Given the description of an element on the screen output the (x, y) to click on. 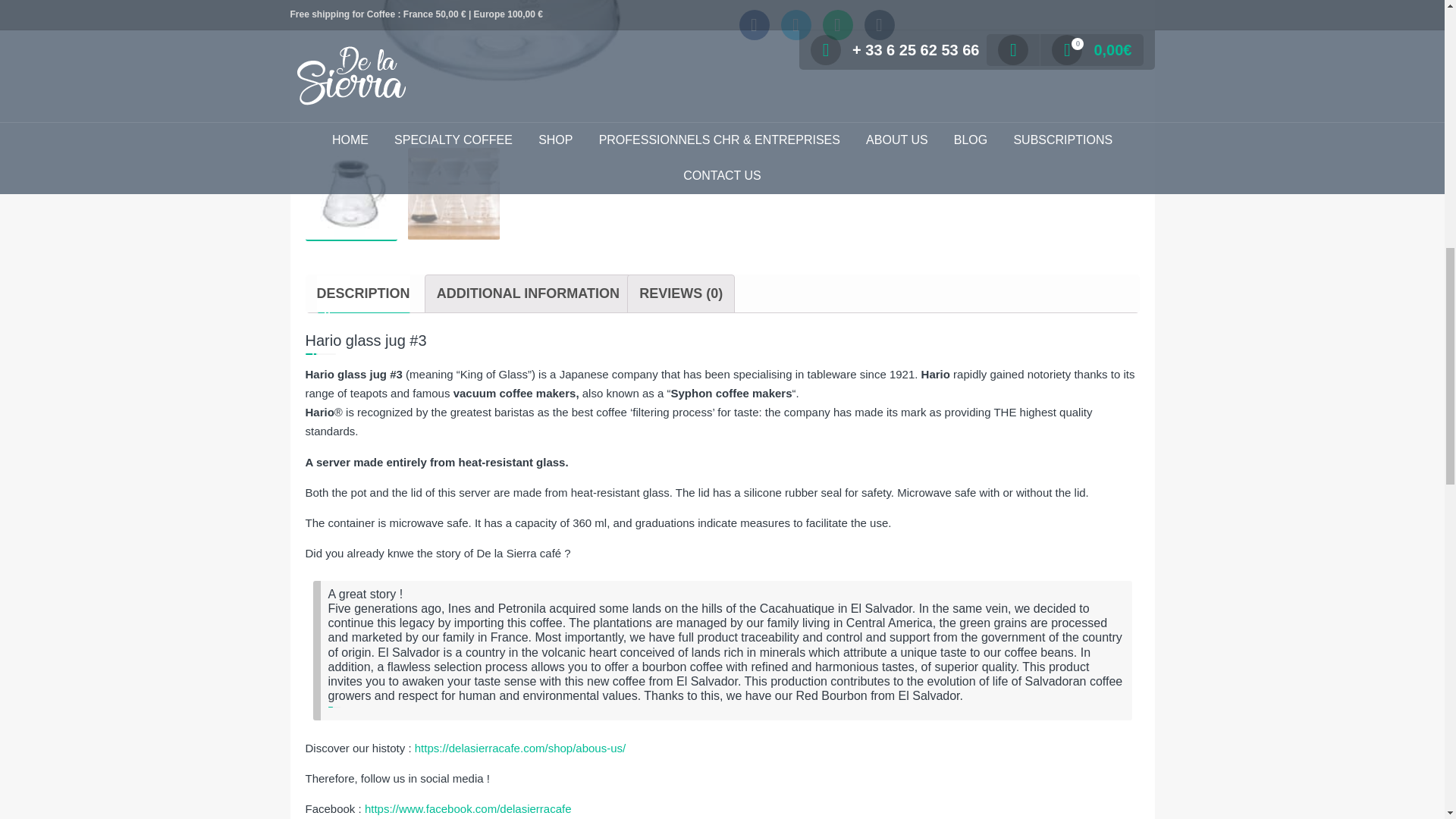
WhatsApp (836, 24)
Email (879, 24)
Twitter (795, 24)
V60-SERVER-3.jpg (504, 68)
ADDITIONAL INFORMATION (528, 293)
DESCRIPTION (363, 293)
Facebook (753, 24)
